Given the description of an element on the screen output the (x, y) to click on. 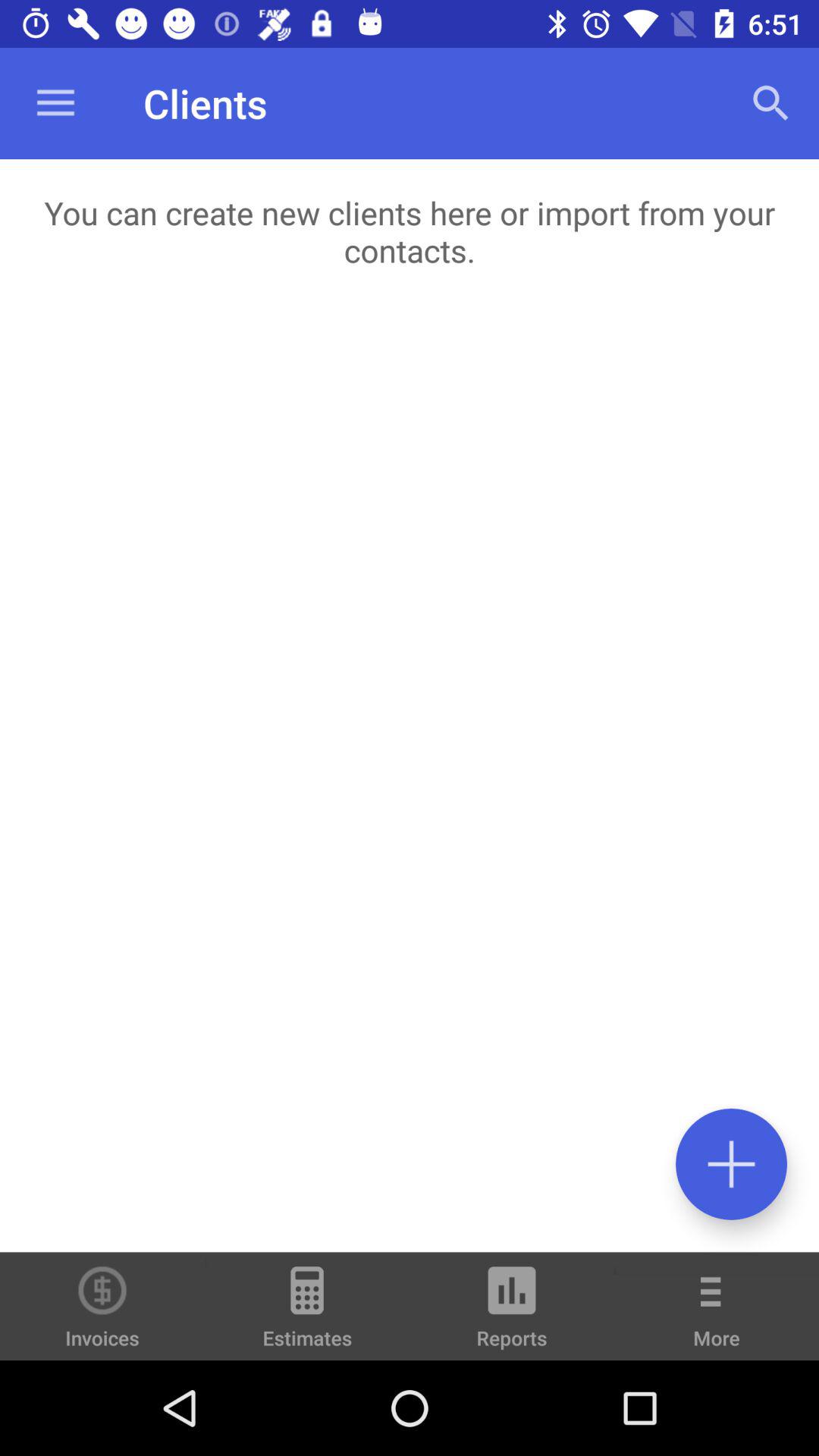
add client (731, 1163)
